Given the description of an element on the screen output the (x, y) to click on. 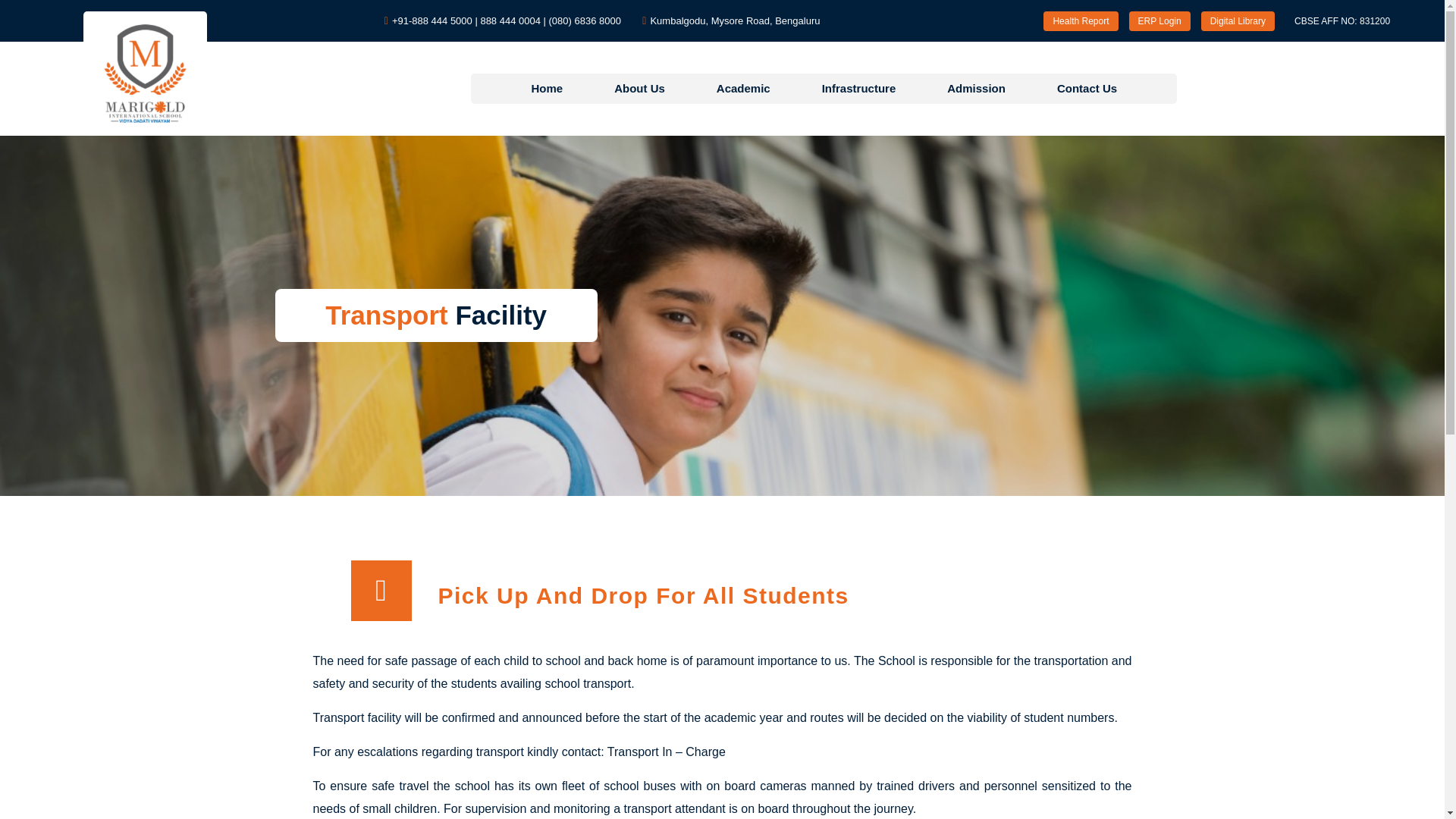
Infrastructure (858, 88)
ERP Login (1158, 20)
Digital Library (1238, 20)
Academic (743, 88)
Admission (975, 88)
CBSE AFF NO: 831200 (1342, 20)
Home (546, 88)
About Us (639, 88)
Health Report (1080, 20)
Contact Us (1086, 88)
